Given the description of an element on the screen output the (x, y) to click on. 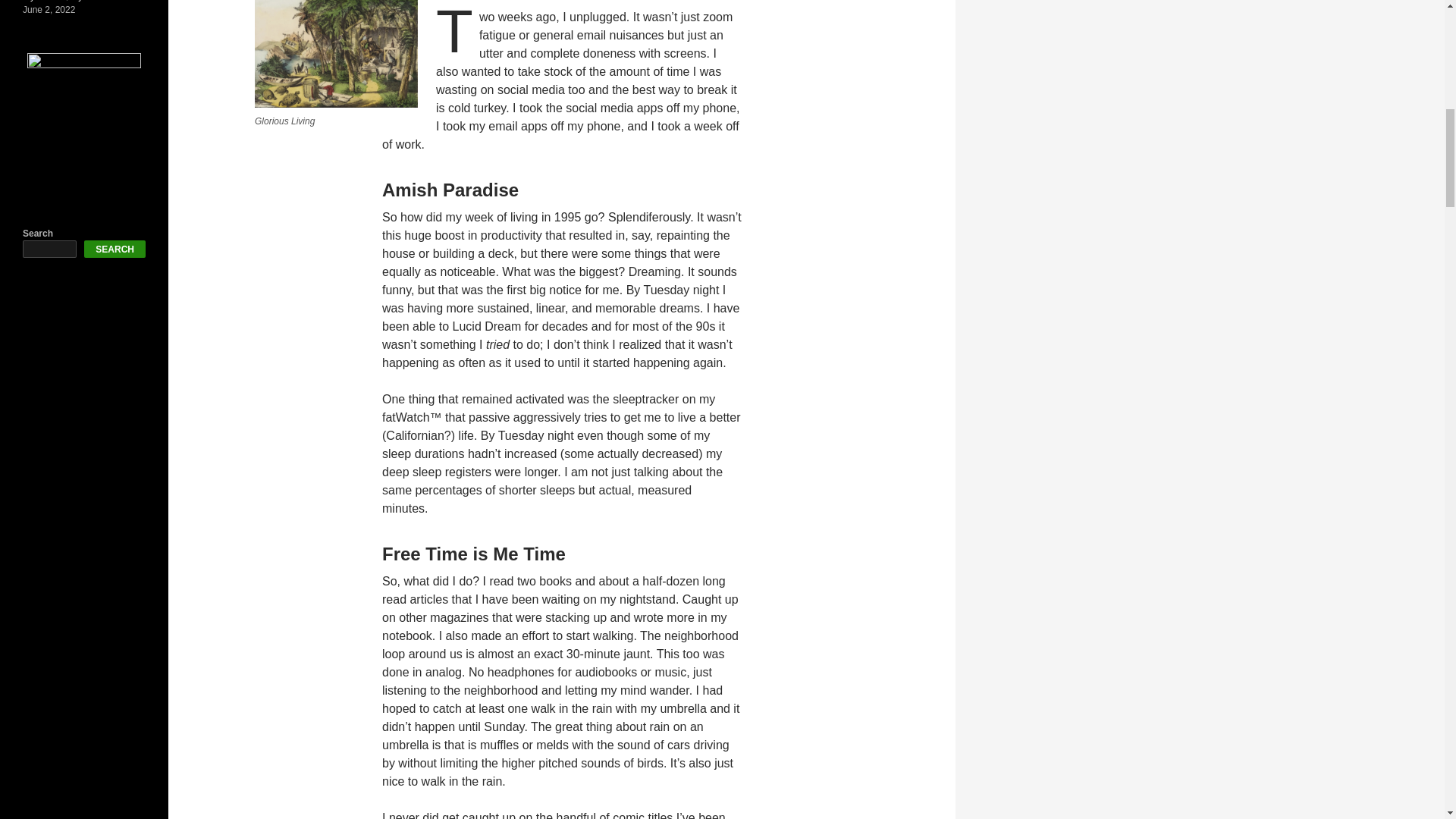
My Mentor; My Friend (67, 0)
SEARCH (114, 248)
